Given the description of an element on the screen output the (x, y) to click on. 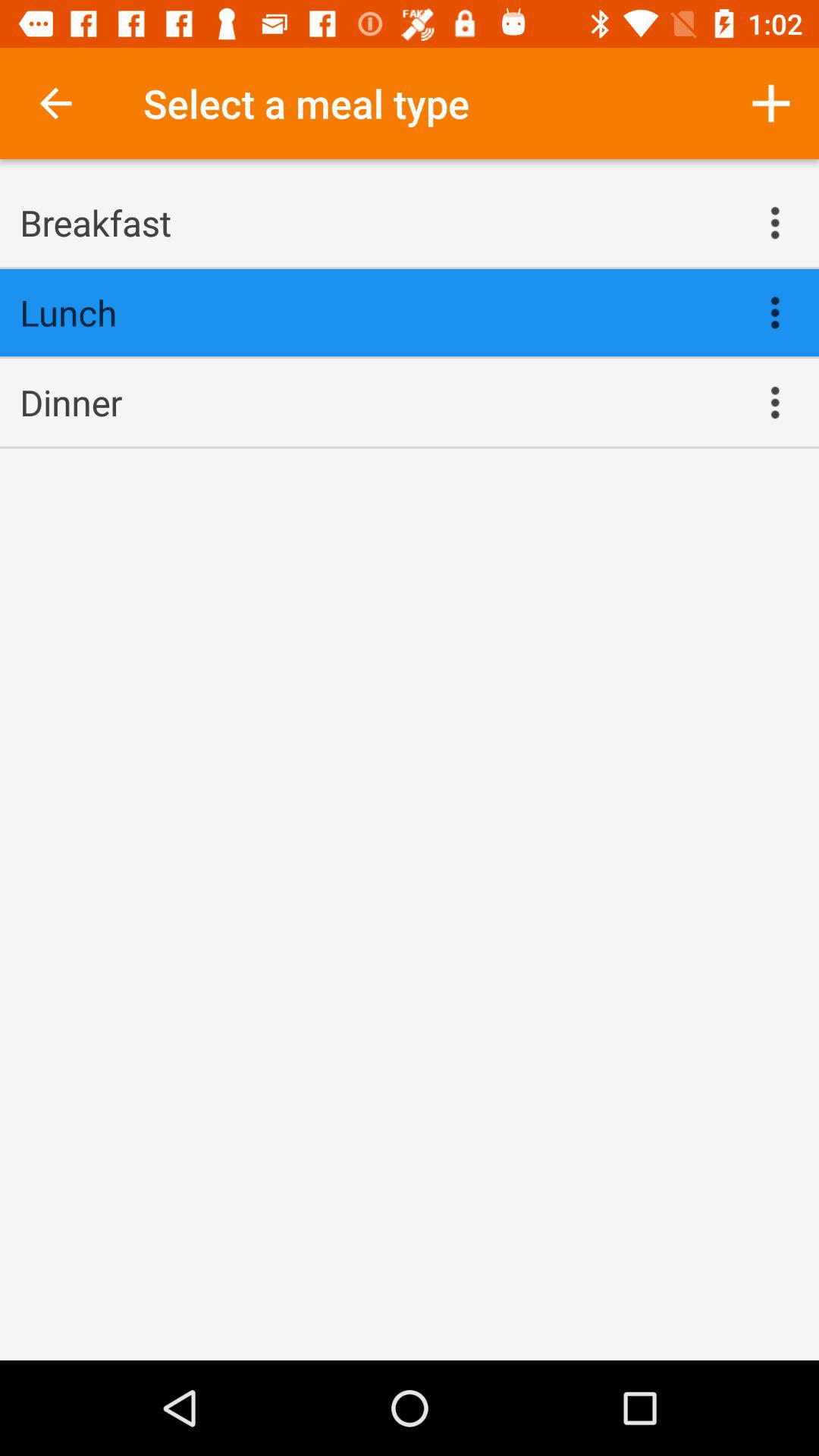
press the icon next to select a meal item (55, 103)
